Given the description of an element on the screen output the (x, y) to click on. 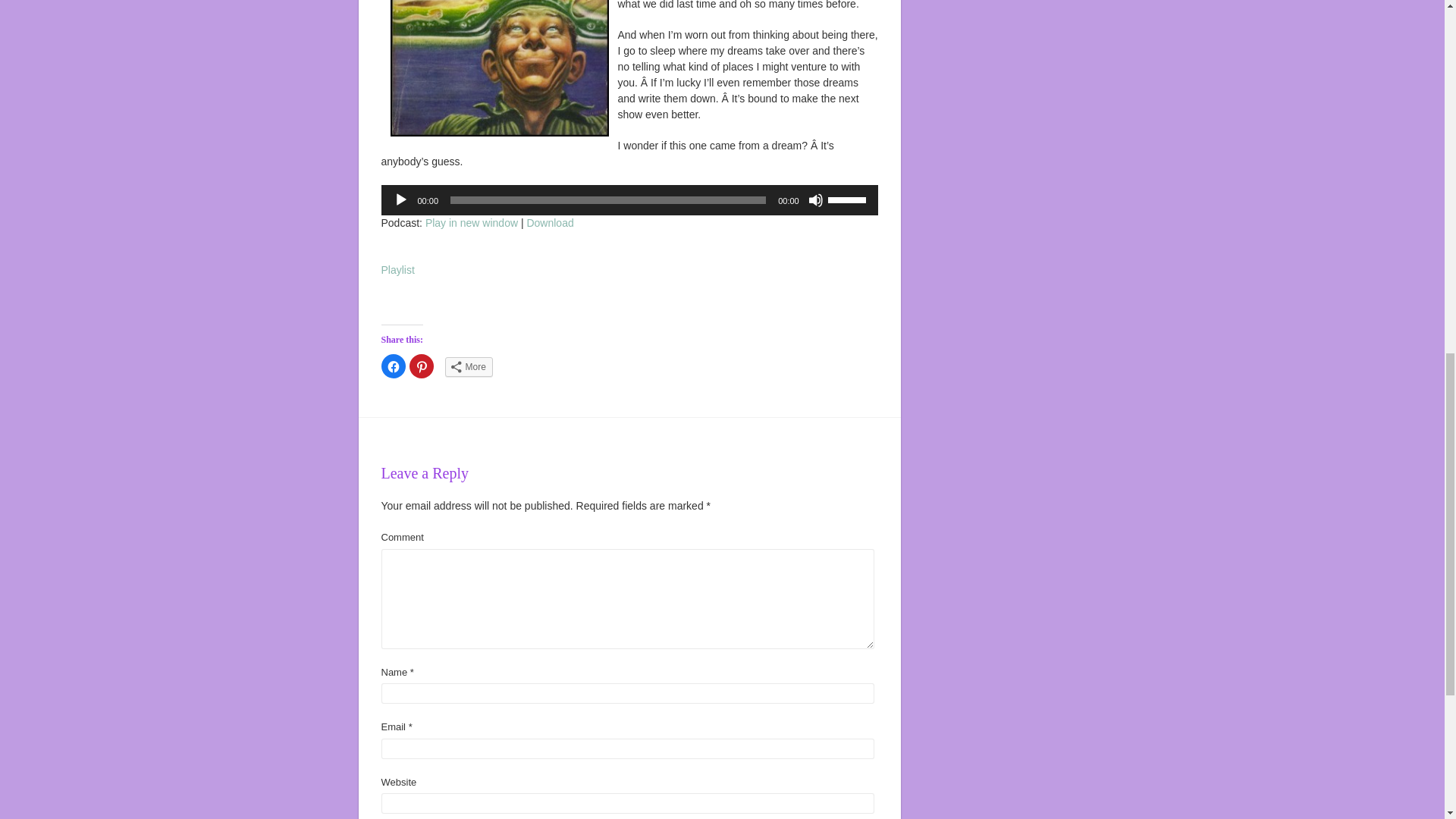
Play (400, 200)
Play in new window (471, 223)
Play in new window (471, 223)
Click to share on Facebook (392, 365)
Click to share on Pinterest (421, 365)
Mute (816, 200)
Download (549, 223)
